Given the description of an element on the screen output the (x, y) to click on. 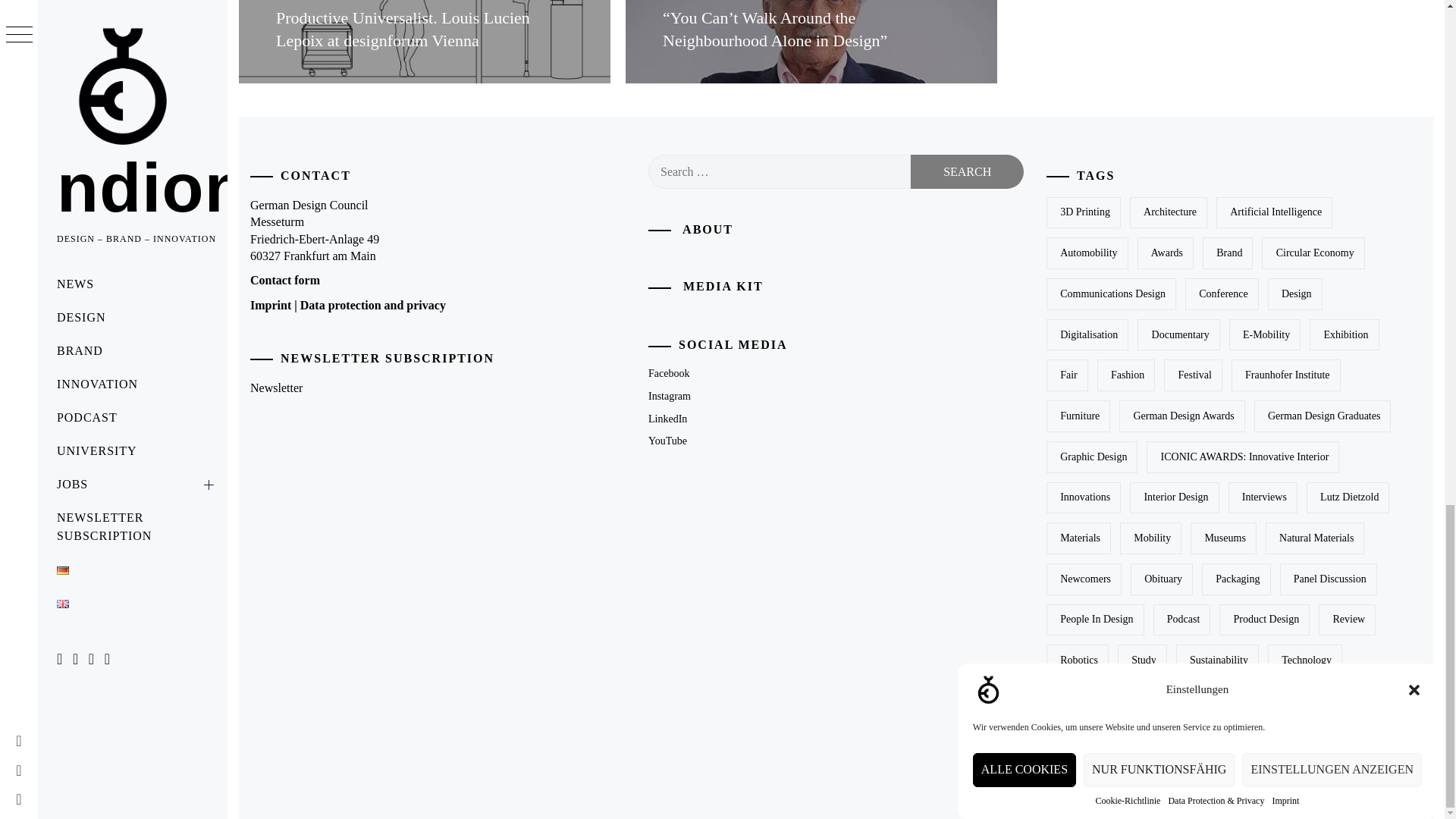
Search (967, 171)
Search (967, 171)
